Given the description of an element on the screen output the (x, y) to click on. 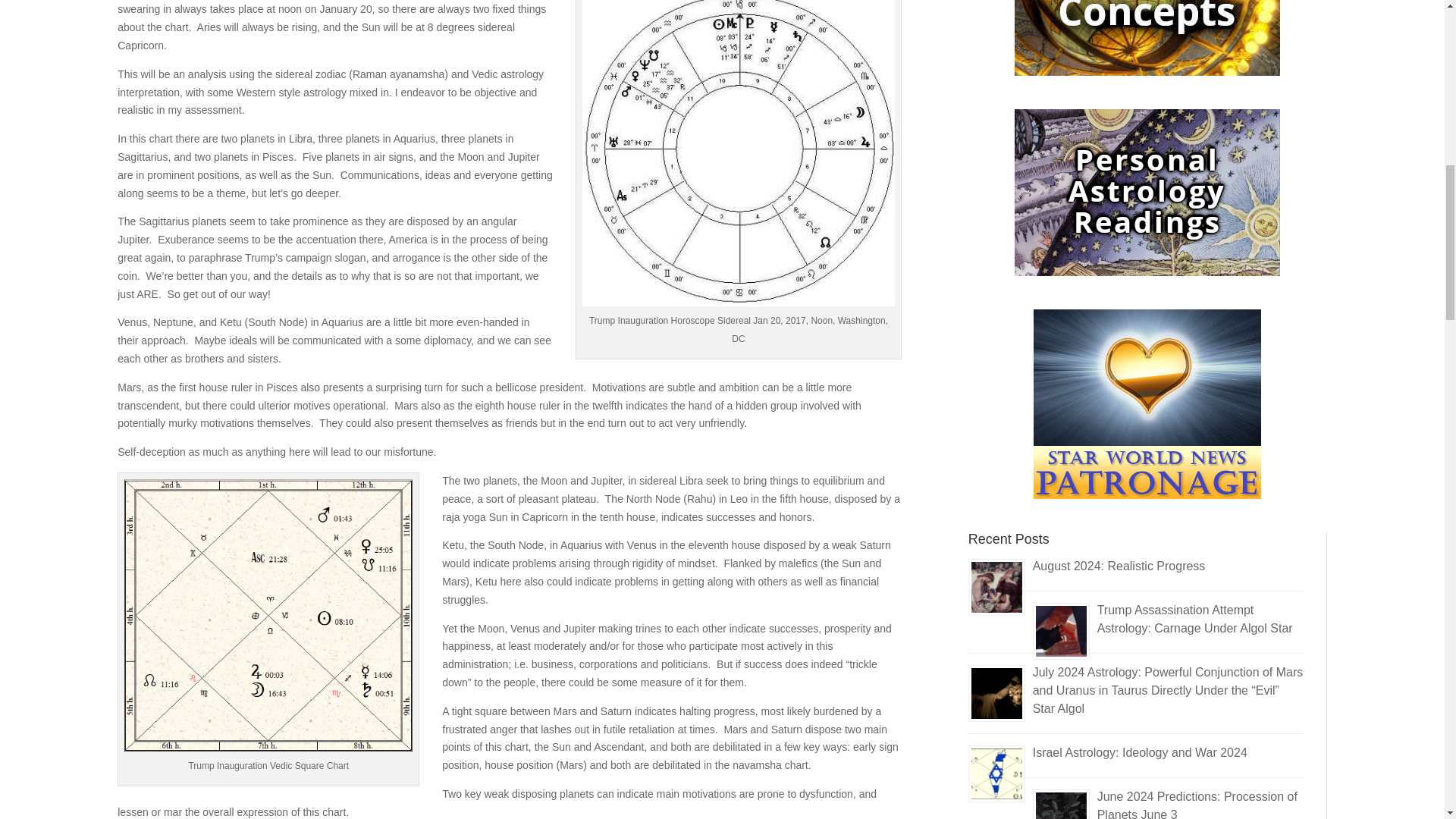
SWNAstrologyConceptsbanner1 (1146, 38)
August 2024: Realistic Progress (1118, 565)
patronage5.1 (1146, 403)
personalastrologyreadings1 (1146, 192)
